Given the description of an element on the screen output the (x, y) to click on. 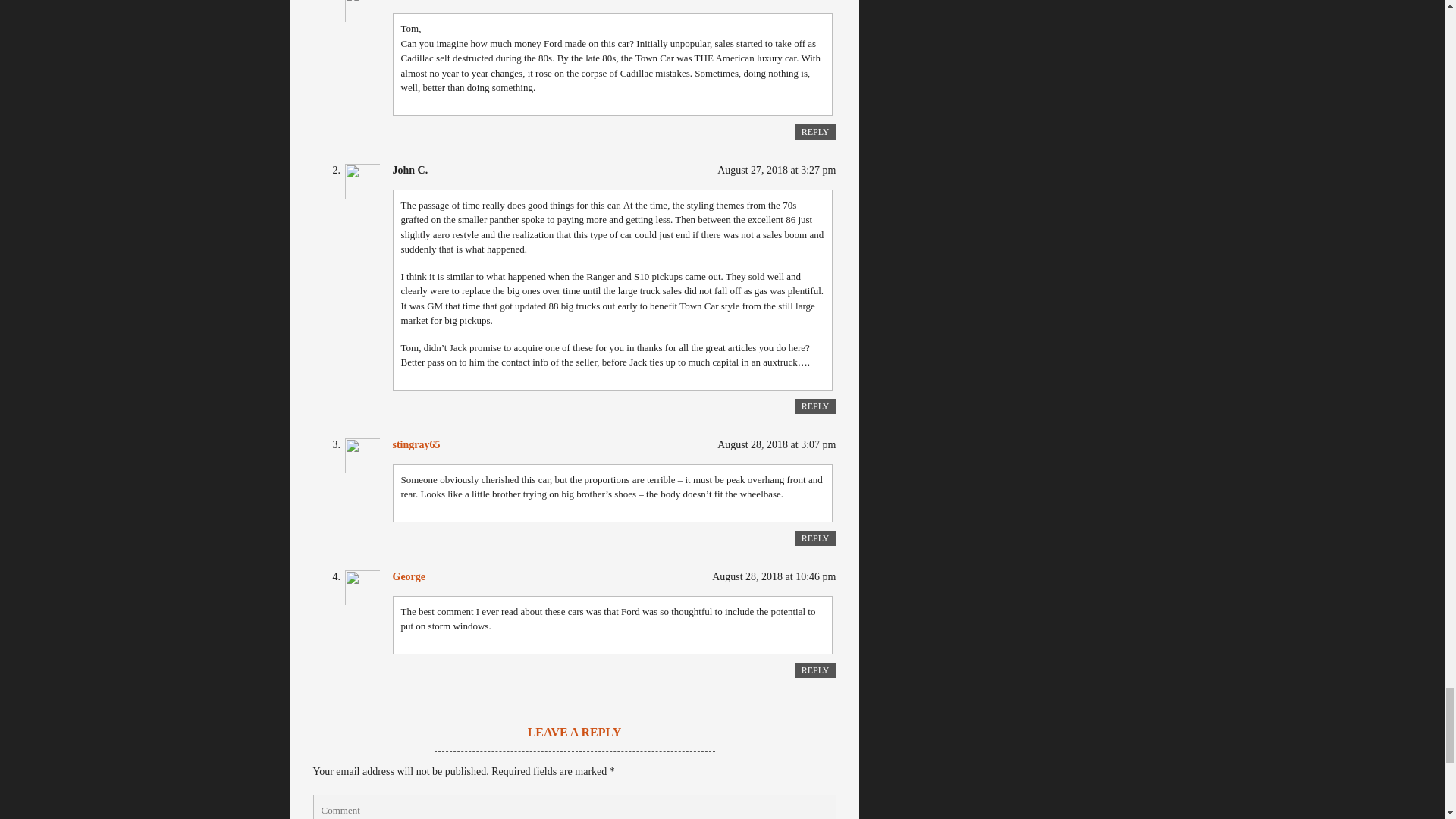
August 28, 2018 at 3:07 pm (776, 444)
August 28, 2018 at 10:46 pm (773, 576)
REPLY (814, 538)
John C. (410, 170)
August 27, 2018 at 3:27 pm (776, 170)
REPLY (814, 670)
REPLY (814, 131)
REPLY (814, 406)
